Given the description of an element on the screen output the (x, y) to click on. 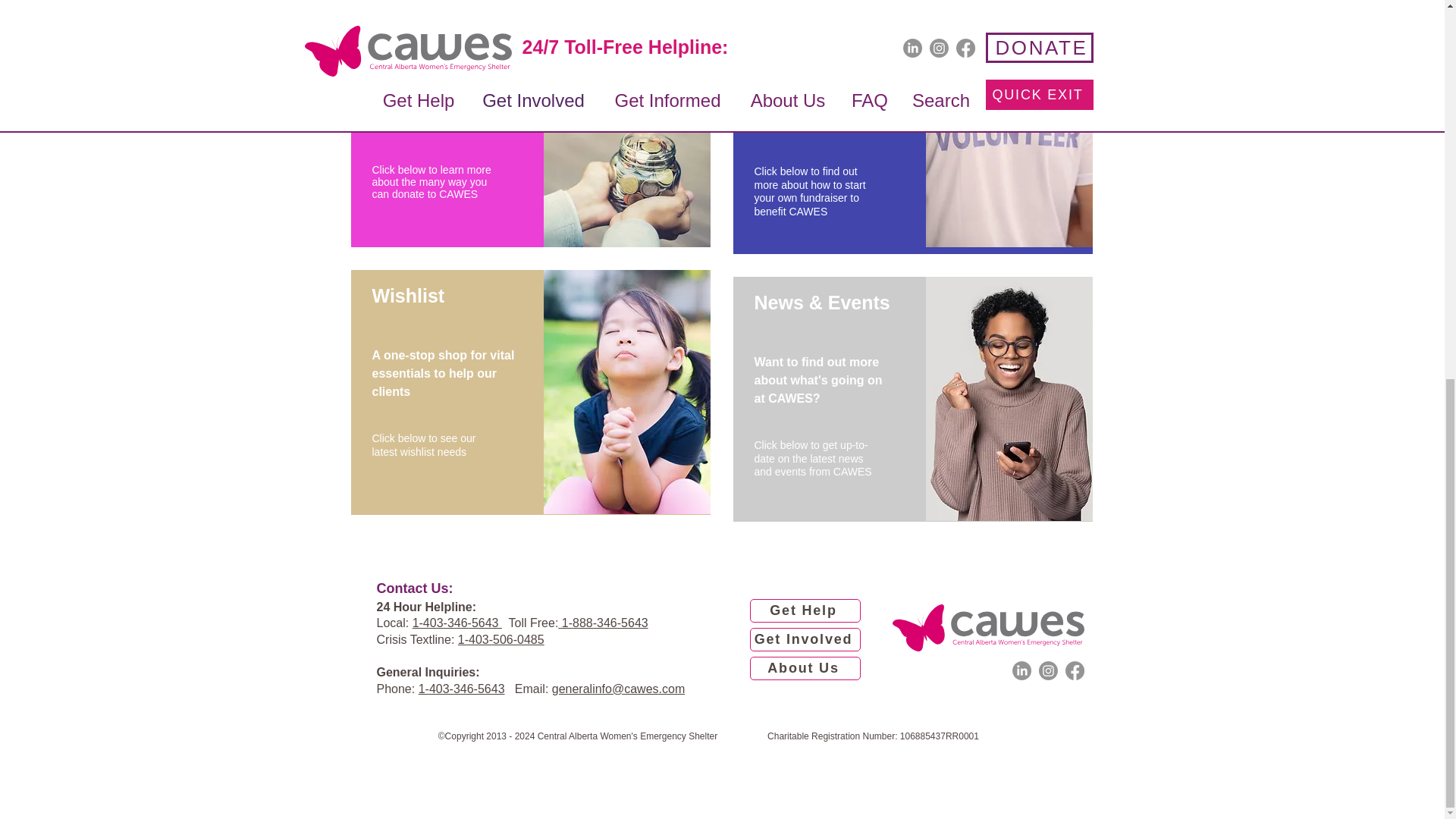
1-888-346-5643 (602, 622)
1-403-346-5643  (457, 622)
1-403-346-5643 (462, 688)
1-403-506-0485 (501, 639)
